Given the description of an element on the screen output the (x, y) to click on. 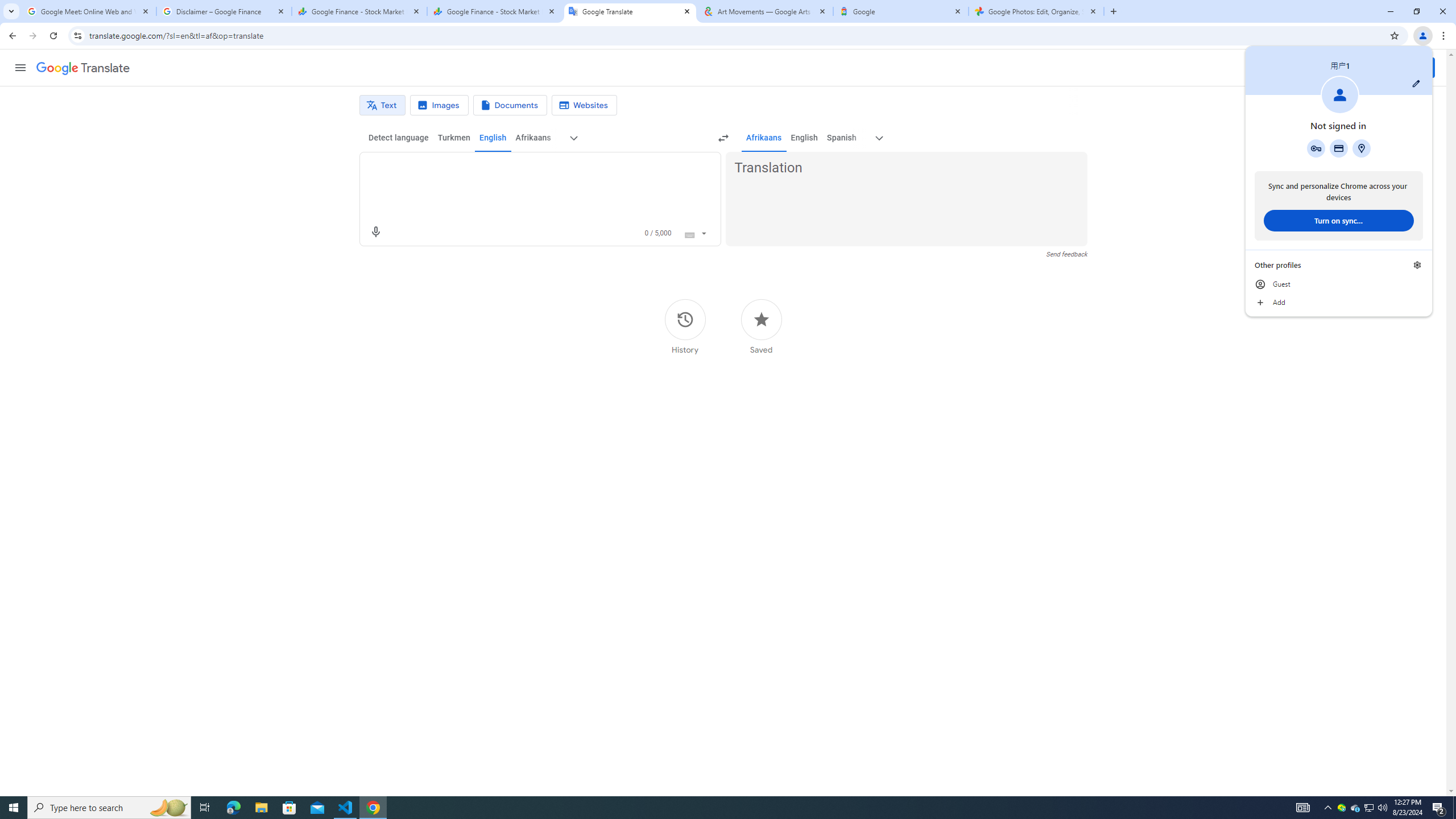
History (684, 326)
Start (13, 807)
English (804, 137)
Document translation (510, 105)
Show the Input Tools menu (703, 231)
Q2790: 100% (1382, 807)
Visual Studio Code - 1 running window (345, 807)
System Promoted Notification Area (1341, 807)
